Given the description of an element on the screen output the (x, y) to click on. 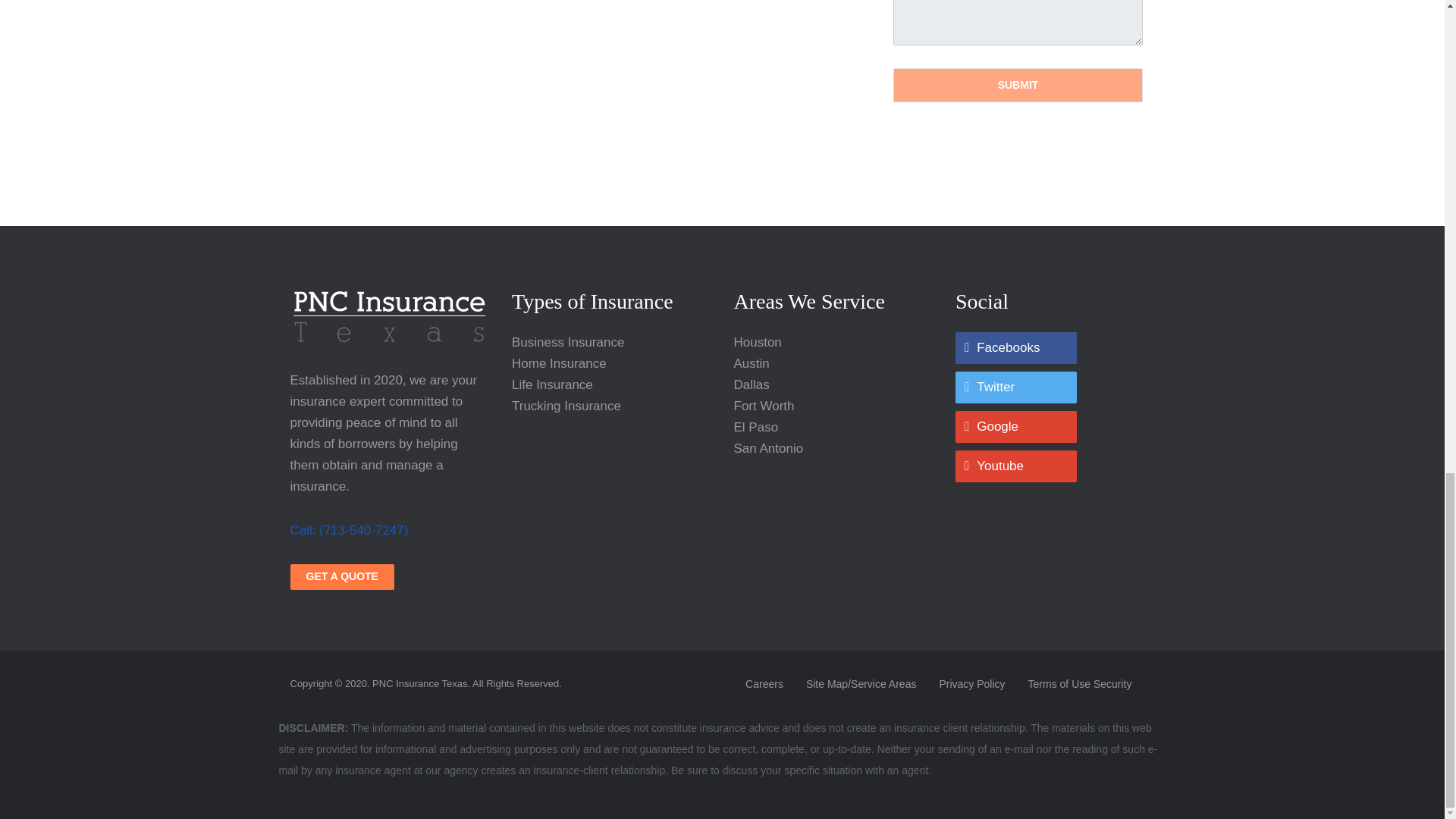
Submit (1017, 84)
